Given the description of an element on the screen output the (x, y) to click on. 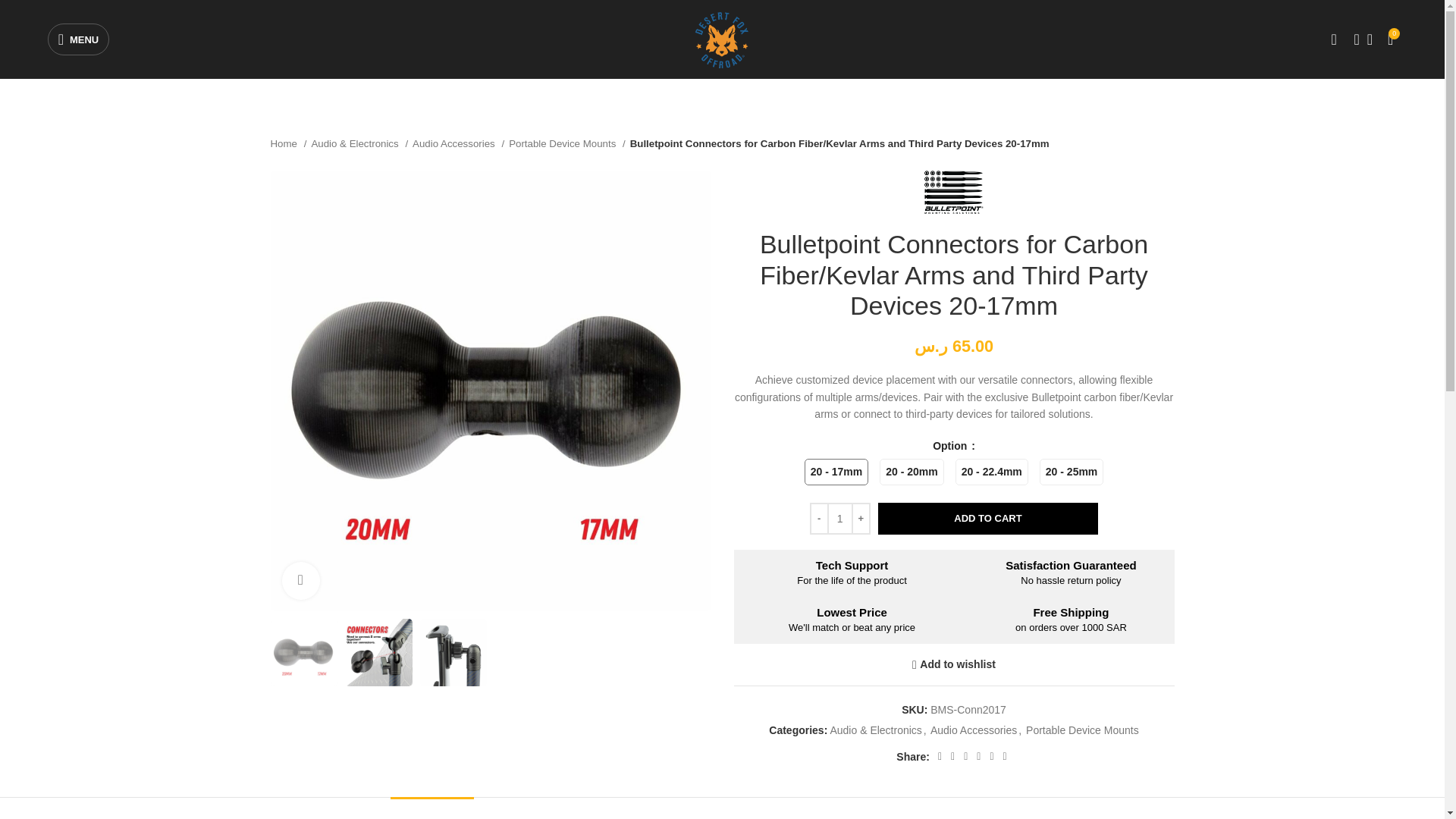
20 - 22.4mm (991, 471)
Bulletpoint Mounting Solutions (954, 191)
Home (287, 143)
MENU (78, 39)
20 - 25mm (988, 518)
20 - 20mm (1071, 471)
Portable Device Mounts (911, 471)
